Given the description of an element on the screen output the (x, y) to click on. 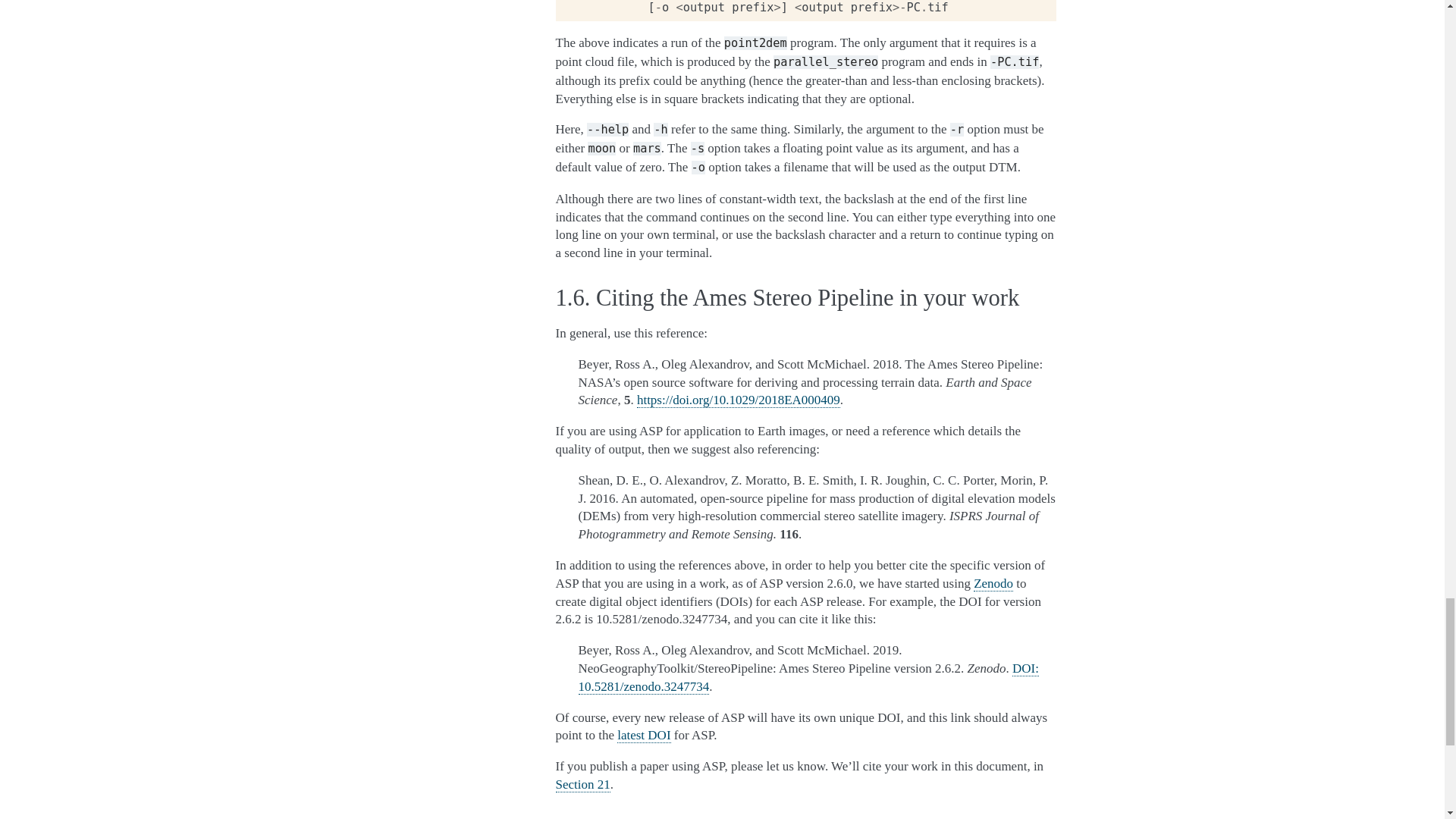
Zenodo (993, 583)
